Given the description of an element on the screen output the (x, y) to click on. 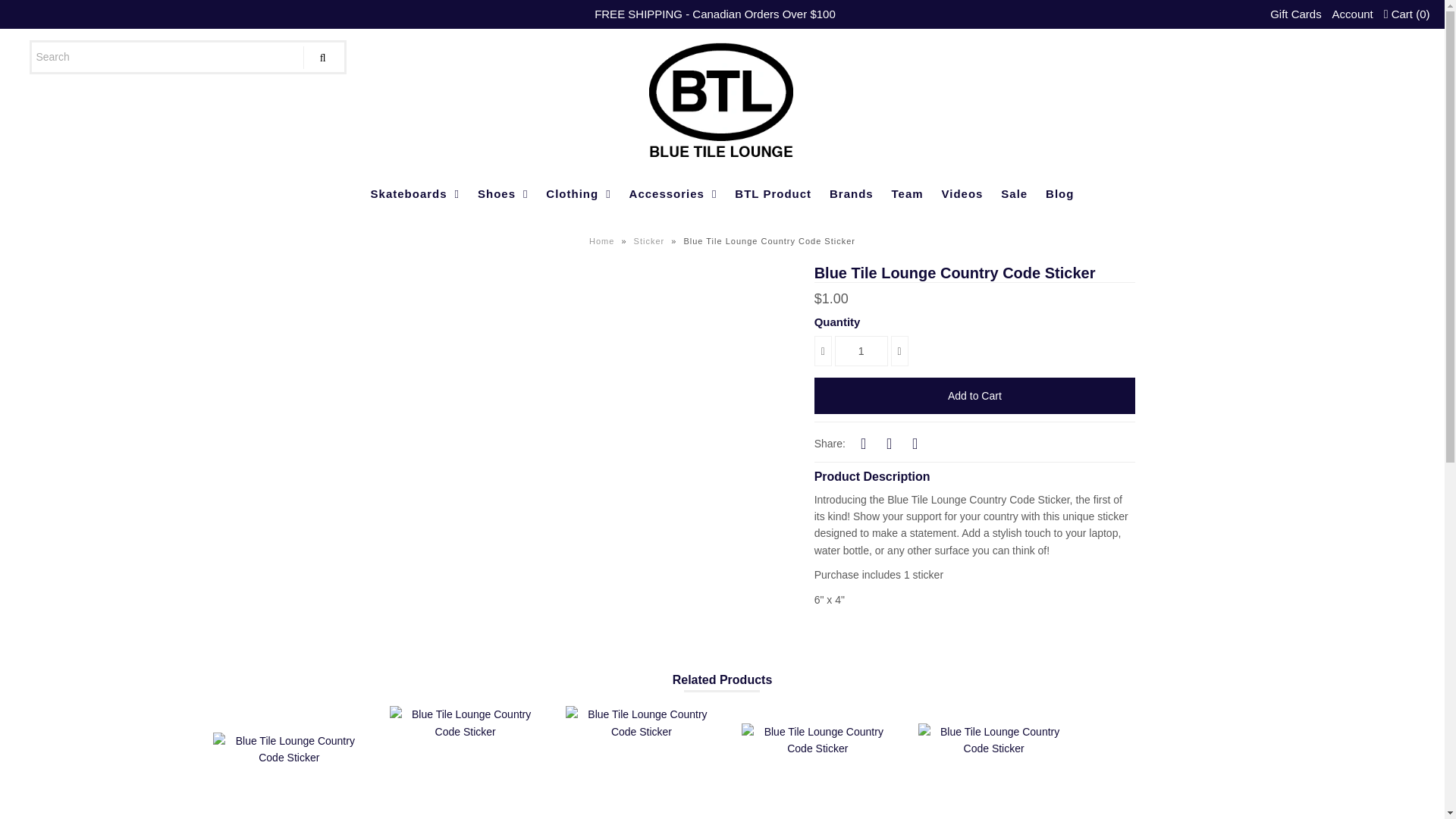
Share on Twitter (889, 442)
Blue Tile Lounge x Lewy180 "97 Grin" T-Shirt White (817, 771)
1 (861, 350)
Share on Facebook (863, 442)
Add to Cart (974, 395)
Home (603, 240)
Sticker (650, 240)
Share on Pinterest (915, 442)
Blue Tile Lounge T-Shirt Souvenir 7.0 White (288, 775)
